Given the description of an element on the screen output the (x, y) to click on. 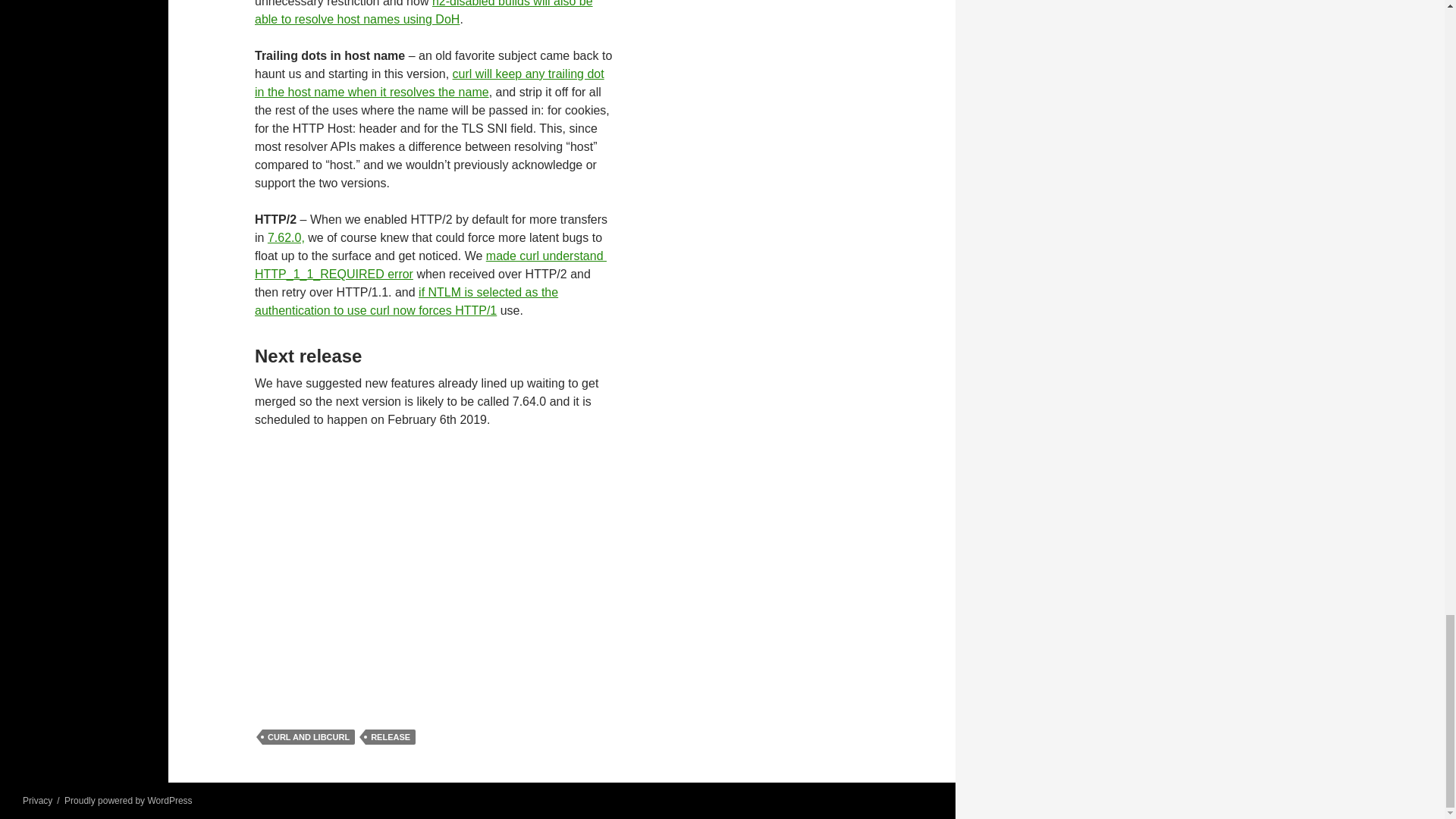
RELEASE (389, 736)
CURL AND LIBCURL (308, 736)
7.62.0, (285, 237)
